Given the description of an element on the screen output the (x, y) to click on. 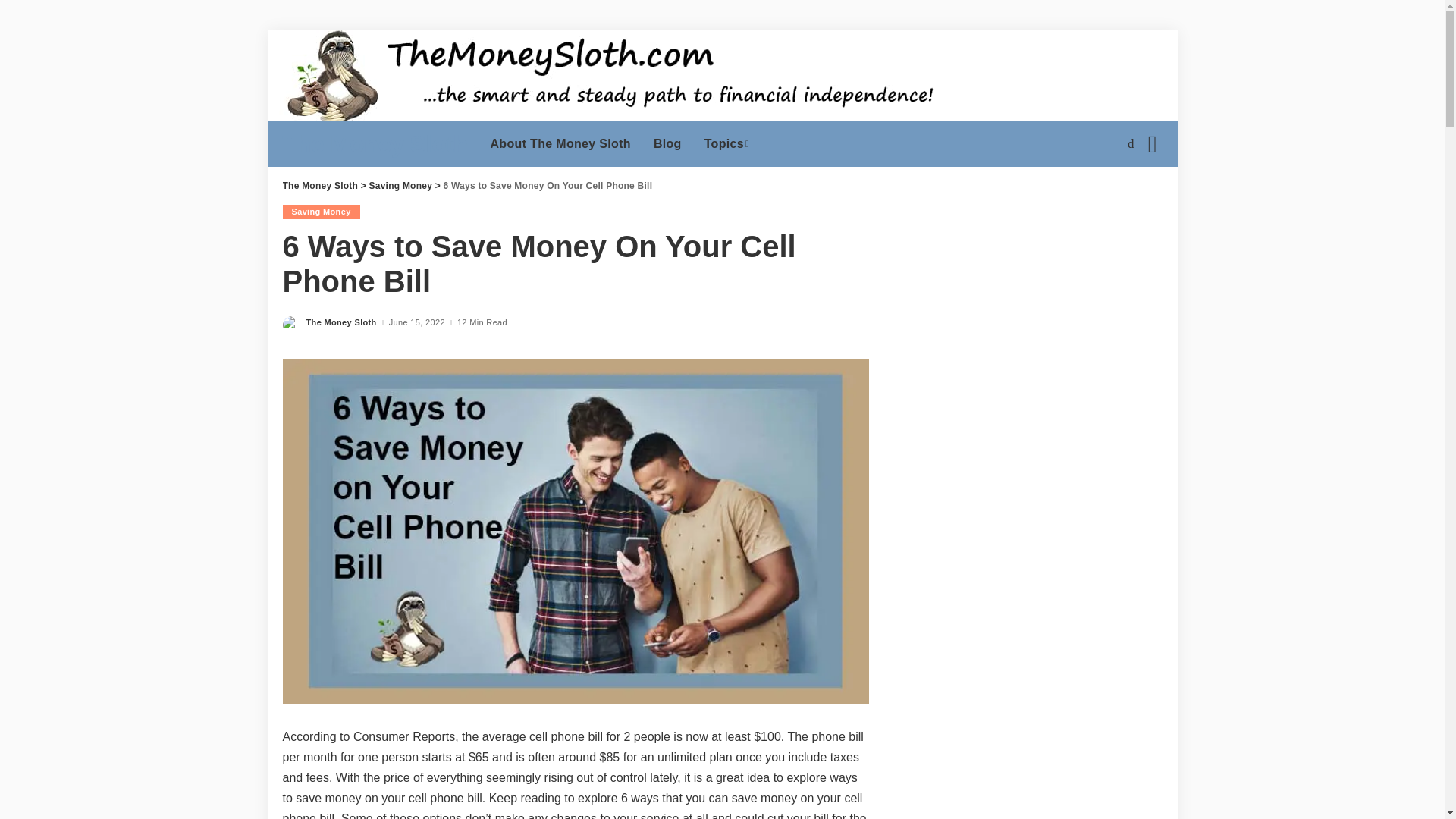
The Money Sloth (374, 144)
Go to The Money Sloth. (320, 185)
The Money Sloth (374, 144)
Blog (667, 144)
2022-06-15T10:33:46-04:00 (416, 322)
Saving Money (320, 211)
Saving Money (400, 185)
Search (1140, 197)
The Money Sloth (320, 185)
Go to the Saving Money Category archives. (400, 185)
